Given the description of an element on the screen output the (x, y) to click on. 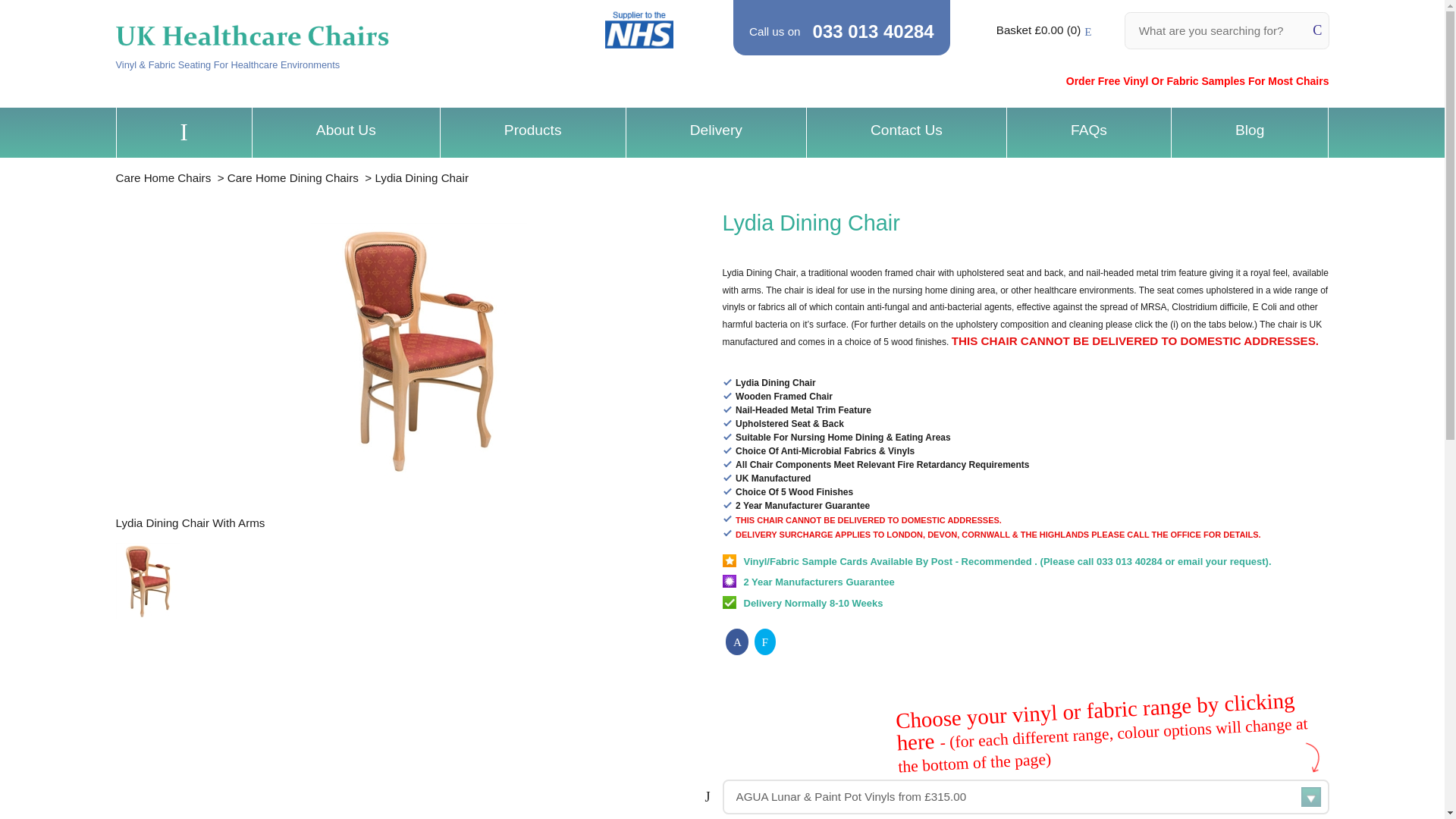
About Us (345, 130)
Blog (1248, 130)
033 013 40284 (873, 31)
Products (532, 130)
Care Home Dining Chairs (292, 177)
Contact Us (906, 130)
Care Home Chairs (163, 177)
Lydia Dining Chair (421, 177)
Delivery (716, 130)
FAQs (1088, 130)
